Given the description of an element on the screen output the (x, y) to click on. 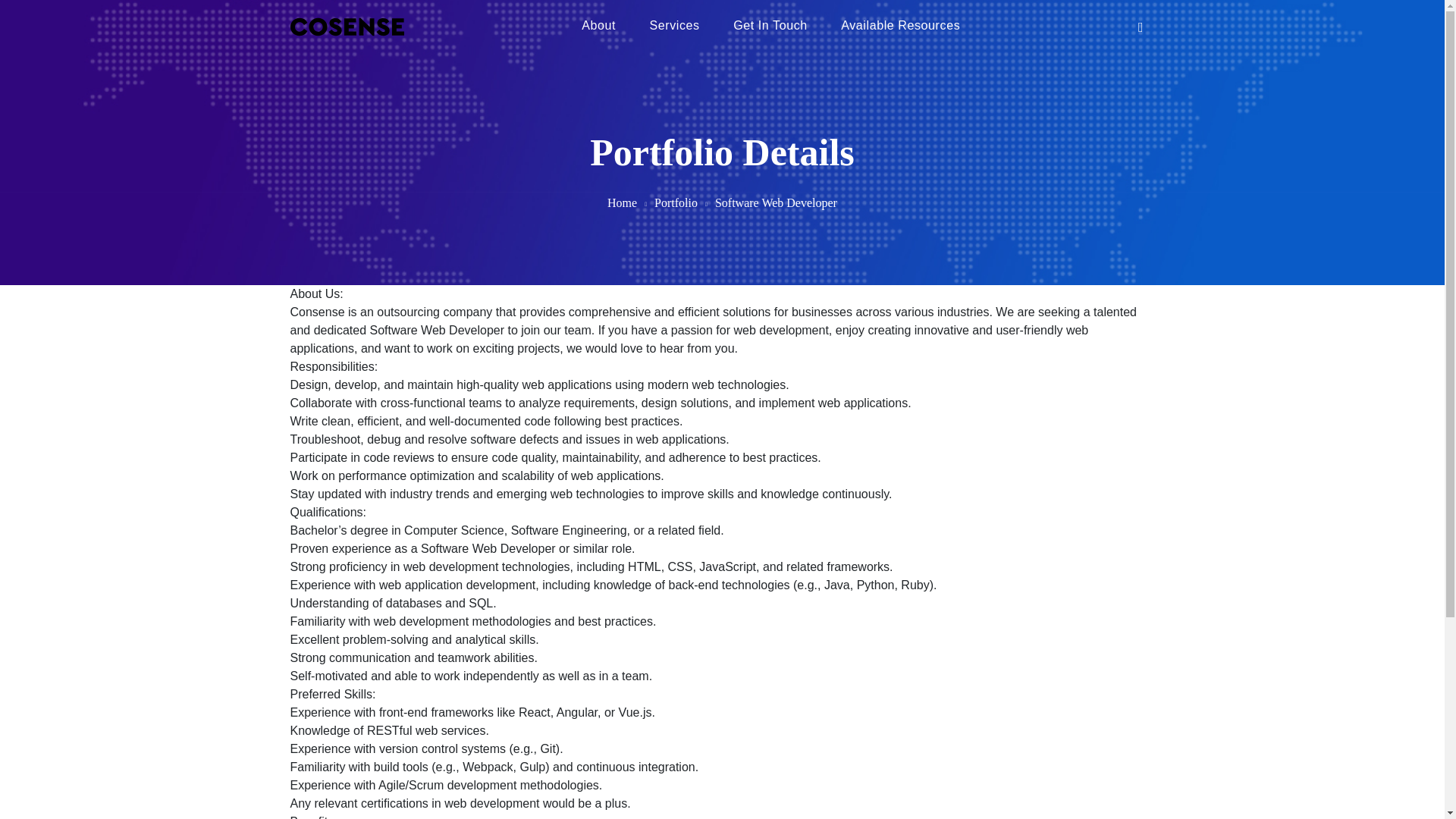
Home (622, 202)
Get In Touch (770, 27)
Available Resources (900, 27)
Services (674, 27)
Portfolio (675, 202)
